Given the description of an element on the screen output the (x, y) to click on. 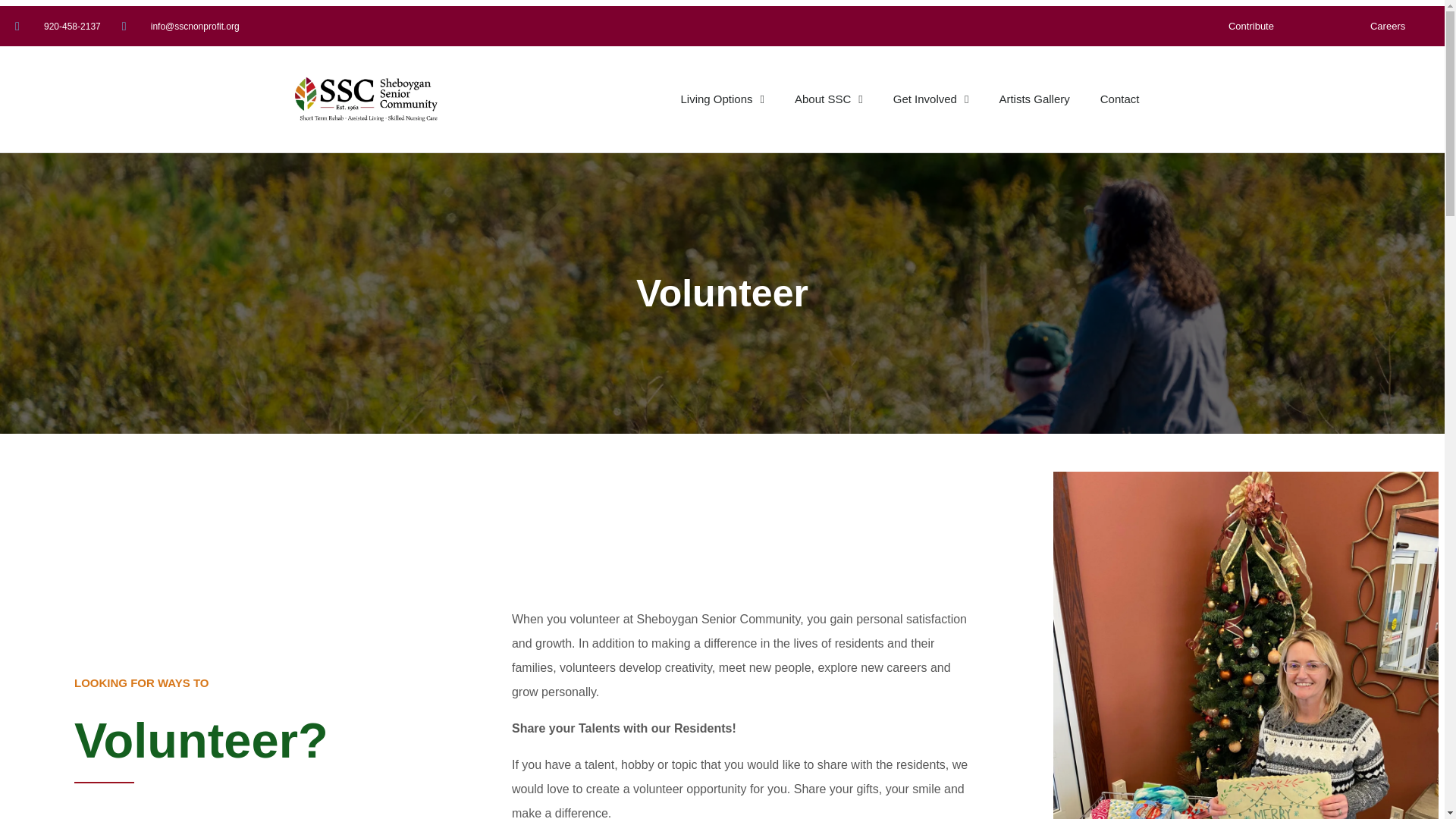
Artists Gallery (1034, 98)
Careers (1388, 25)
Get Involved (930, 98)
920-458-2137 (57, 25)
Living Options (721, 98)
About SSC (827, 98)
Contribute (1250, 25)
